Given the description of an element on the screen output the (x, y) to click on. 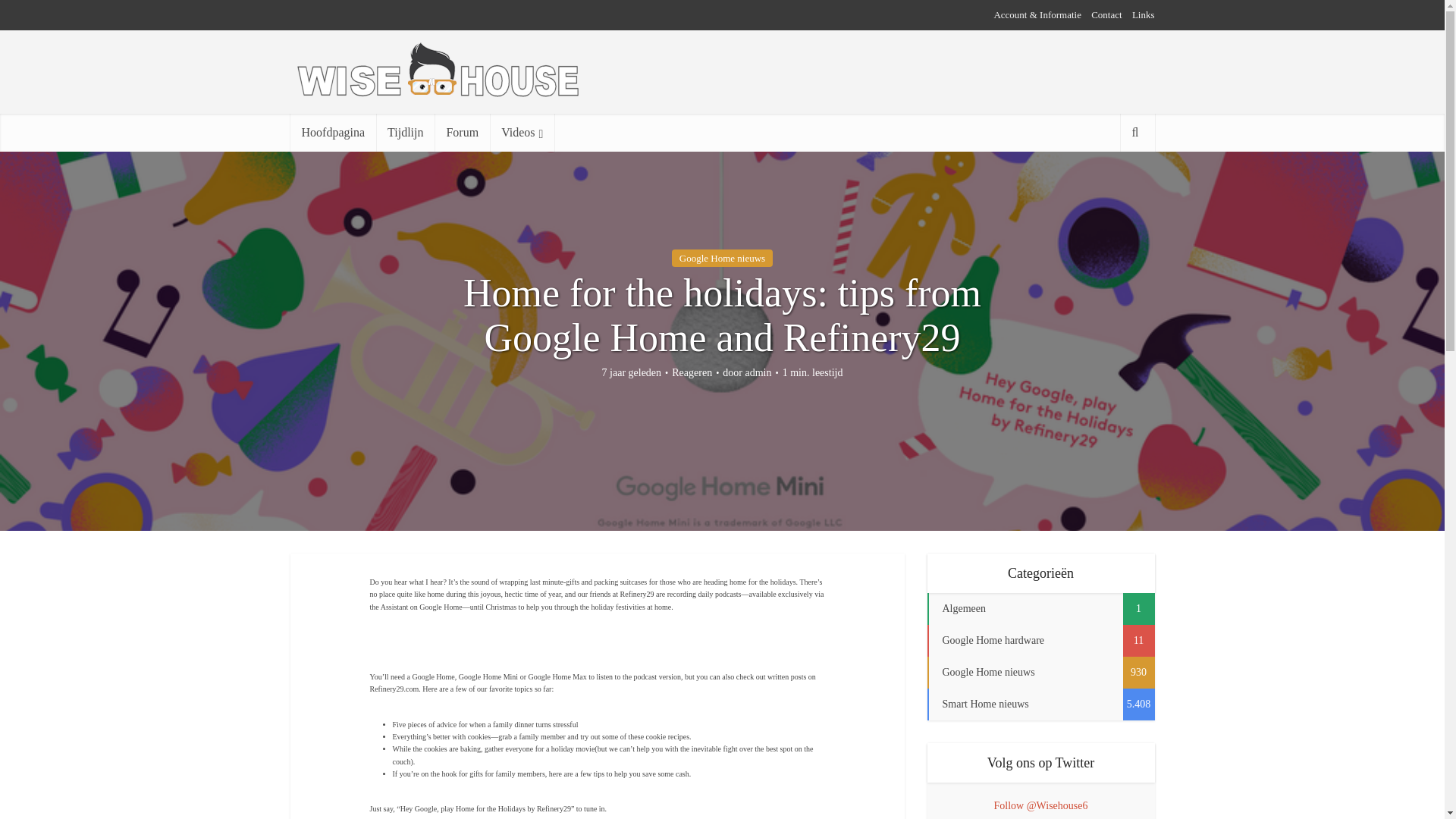
Google Home nieuws (722, 257)
Forum (461, 132)
admin (758, 373)
Videos (521, 132)
Contact (1105, 14)
Reageren (691, 373)
Links (1143, 14)
Tijdlijn (404, 132)
Hoofdpagina (332, 132)
